Given the description of an element on the screen output the (x, y) to click on. 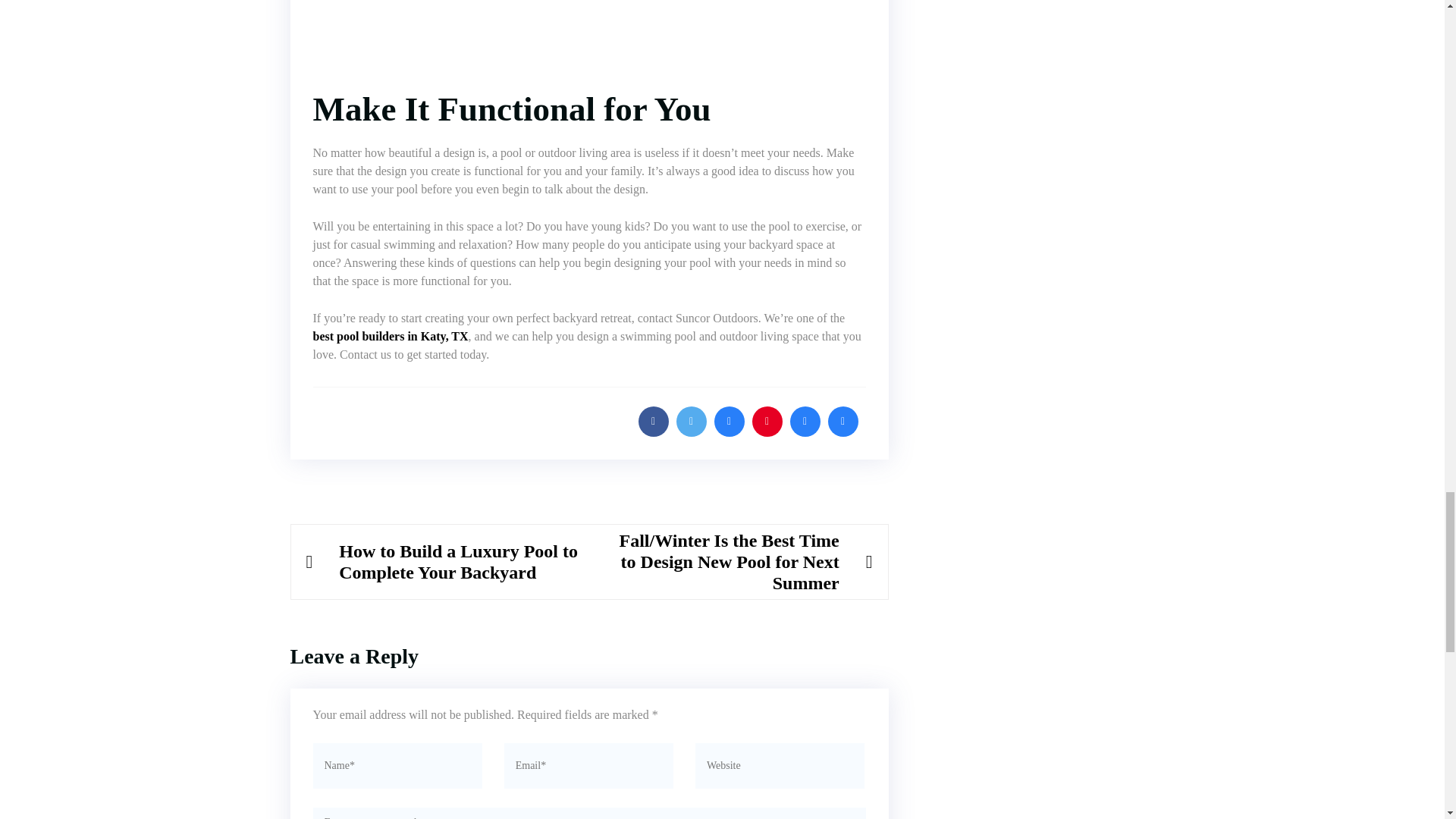
 - Suncor Outdoors (588, 37)
